Given the description of an element on the screen output the (x, y) to click on. 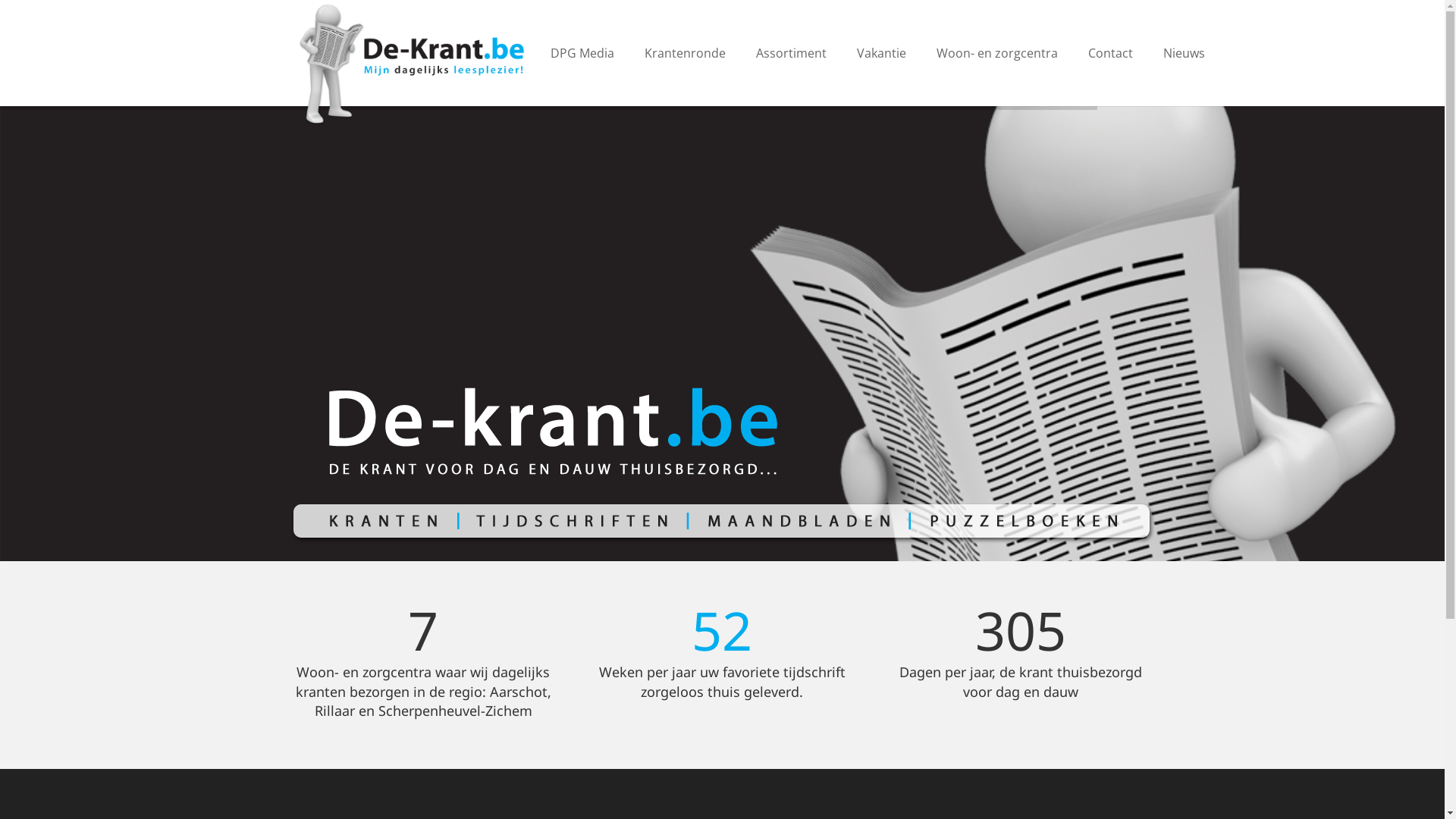
Krantenronde Element type: text (684, 53)
Assortiment Element type: text (790, 53)
Vakantie Element type: text (881, 53)
Nieuws Element type: text (1184, 53)
DPG Media Element type: text (582, 53)
Contact Element type: text (1110, 53)
Woon- en zorgcentra Element type: text (997, 53)
